Given the description of an element on the screen output the (x, y) to click on. 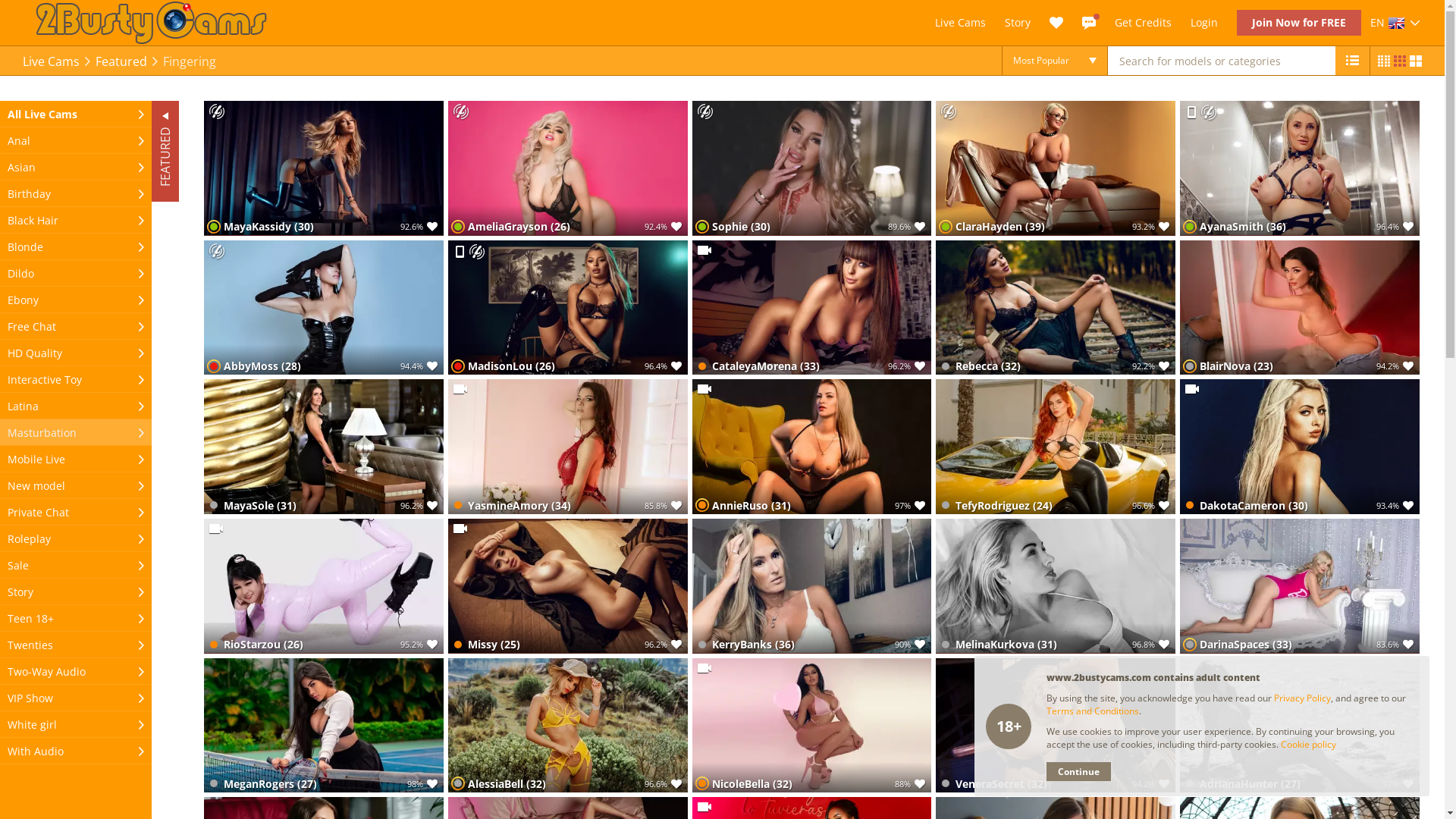
All Live Cams Element type: text (75, 113)
Missy (25)
96.2% Element type: text (567, 585)
Blonde Element type: text (75, 246)
Get Credits Element type: text (1142, 22)
AdrianaHunter (27)
97% Element type: text (1299, 725)
AmeliaGrayson (26)
92.4% Element type: text (567, 167)
VideoCall Element type: hover (704, 249)
HD Quality Element type: text (75, 352)
White girl Element type: text (75, 724)
Free Chat Element type: text (75, 326)
NicoleBella (32)
88% Element type: text (811, 725)
Most Popular Element type: text (1054, 60)
Rebecca (32)
92.2% Element type: text (1055, 307)
VideoCall Element type: hover (460, 388)
YasmineAmory (34)
85.8% Element type: text (567, 446)
MelinaKurkova (31)
96.8% Element type: text (1055, 585)
VIP Show Element type: text (75, 697)
MayaKassidy (30)
92.6% Element type: text (323, 167)
Interactive Toy Element type: text (75, 379)
Featured Element type: text (121, 61)
Asian Element type: text (75, 166)
Join Now for FREE Element type: text (1298, 22)
MadisonLou (26)
96.4% Element type: text (567, 307)
DarinaSpaces (33)
83.6% Element type: text (1299, 585)
AbbyMoss (28)
94.4% Element type: text (323, 307)
Masturbation Element type: text (75, 432)
Live Cams Element type: text (50, 61)
Login Element type: text (1203, 22)
Black Hair Element type: text (75, 220)
AyanaSmith (36)
96.4% Element type: text (1299, 167)
Anal Element type: text (75, 140)
Mobile Live Element type: hover (1191, 111)
TefyRodriguez (24)
96.6% Element type: text (1055, 446)
Privacy Policy Element type: text (1302, 697)
Story Element type: text (1017, 22)
MayaSole (31)
96.2% Element type: text (323, 446)
Dildo Element type: text (75, 273)
VideoCall Element type: hover (704, 388)
Roleplay Element type: text (75, 538)
AnnieRuso (31)
97% Element type: text (811, 446)
DakotaCameron (30)
93.4% Element type: text (1299, 446)
RioStarzou (26)
95.2% Element type: text (323, 585)
VideoCall Element type: hover (704, 806)
VideoCall Element type: hover (215, 527)
Two-Way Audio Element type: text (75, 671)
VideoCall Element type: hover (704, 667)
Terms and Conditions Element type: text (1092, 710)
VideoCall Element type: hover (460, 527)
Cookie policy Element type: text (1308, 743)
With Audio Element type: text (75, 750)
Story Element type: text (75, 591)
Sophie (30)
89.6% Element type: text (811, 167)
Continue Element type: text (1078, 771)
Mobile Live Element type: text (75, 458)
KerryBanks (36)
90% Element type: text (811, 585)
Live Cams Element type: text (960, 22)
CataleyaMorena (33)
96.2% Element type: text (811, 307)
Ebony Element type: text (75, 299)
Latina Element type: text (75, 405)
MeganRogers (27)
98% Element type: text (323, 725)
Twenties Element type: text (75, 644)
Mobile Live Element type: hover (459, 251)
Birthday Element type: text (75, 193)
ClaraHayden (39)
93.2% Element type: text (1055, 167)
VeneraSecret (32)
94.2% Element type: text (1055, 725)
BlairNova (23)
94.2% Element type: text (1299, 307)
FEATURED Element type: text (201, 114)
Sale Element type: text (75, 565)
Teen 18+ Element type: text (75, 618)
New model Element type: text (75, 485)
VideoCall Element type: hover (1191, 388)
AlessiaBell (32)
96.6% Element type: text (567, 725)
Private Chat Element type: text (75, 511)
Messages Element type: hover (1088, 22)
